Given the description of an element on the screen output the (x, y) to click on. 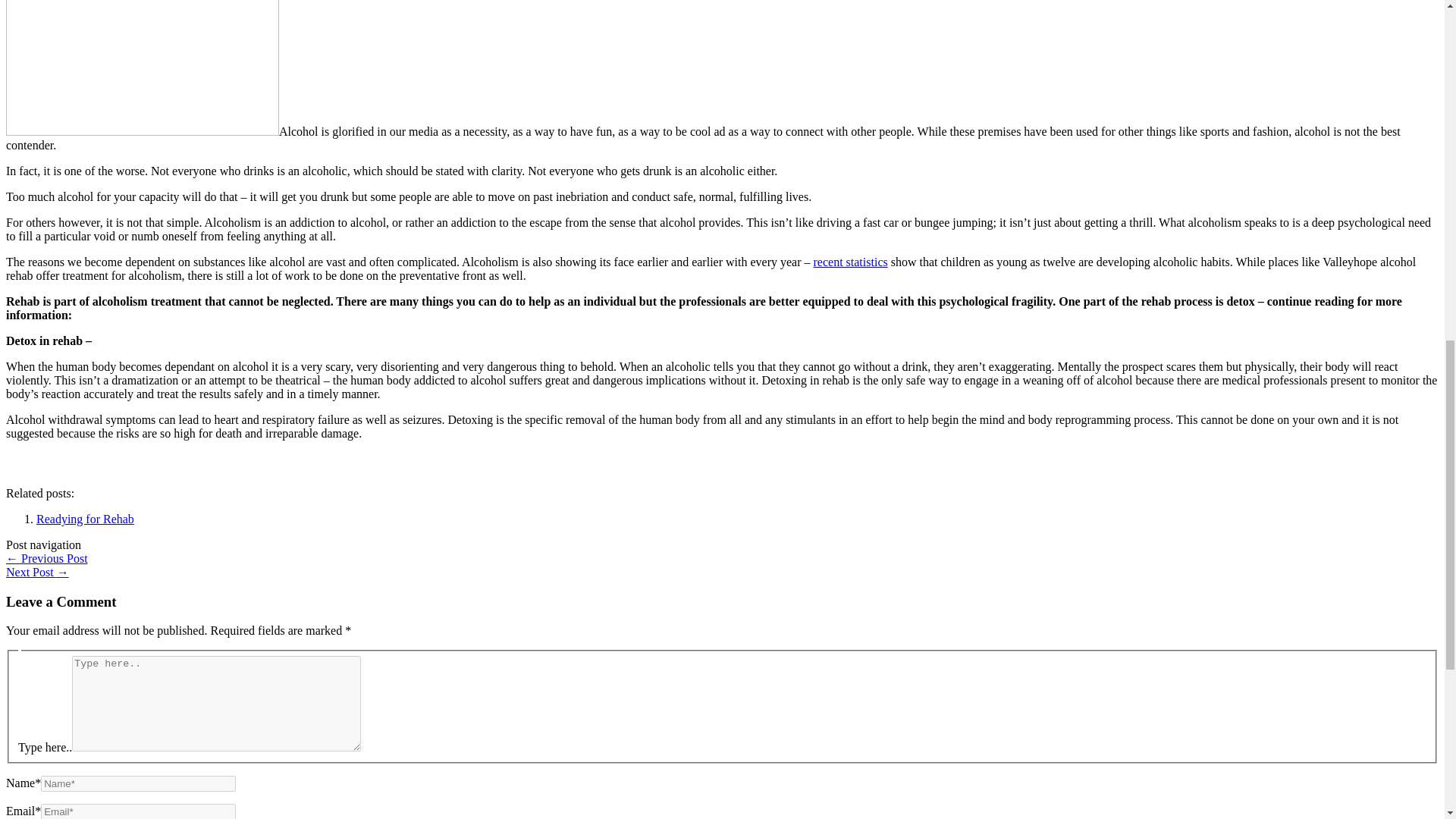
Readying for Rehab (84, 518)
Readying for Rehab (84, 518)
recent statistics (850, 261)
Traveling with Menopausal Symptoms - What you can do? (36, 571)
Lending a Helping Hand Through Addiction (142, 67)
Vamos a la Orlando! (46, 558)
